Given the description of an element on the screen output the (x, y) to click on. 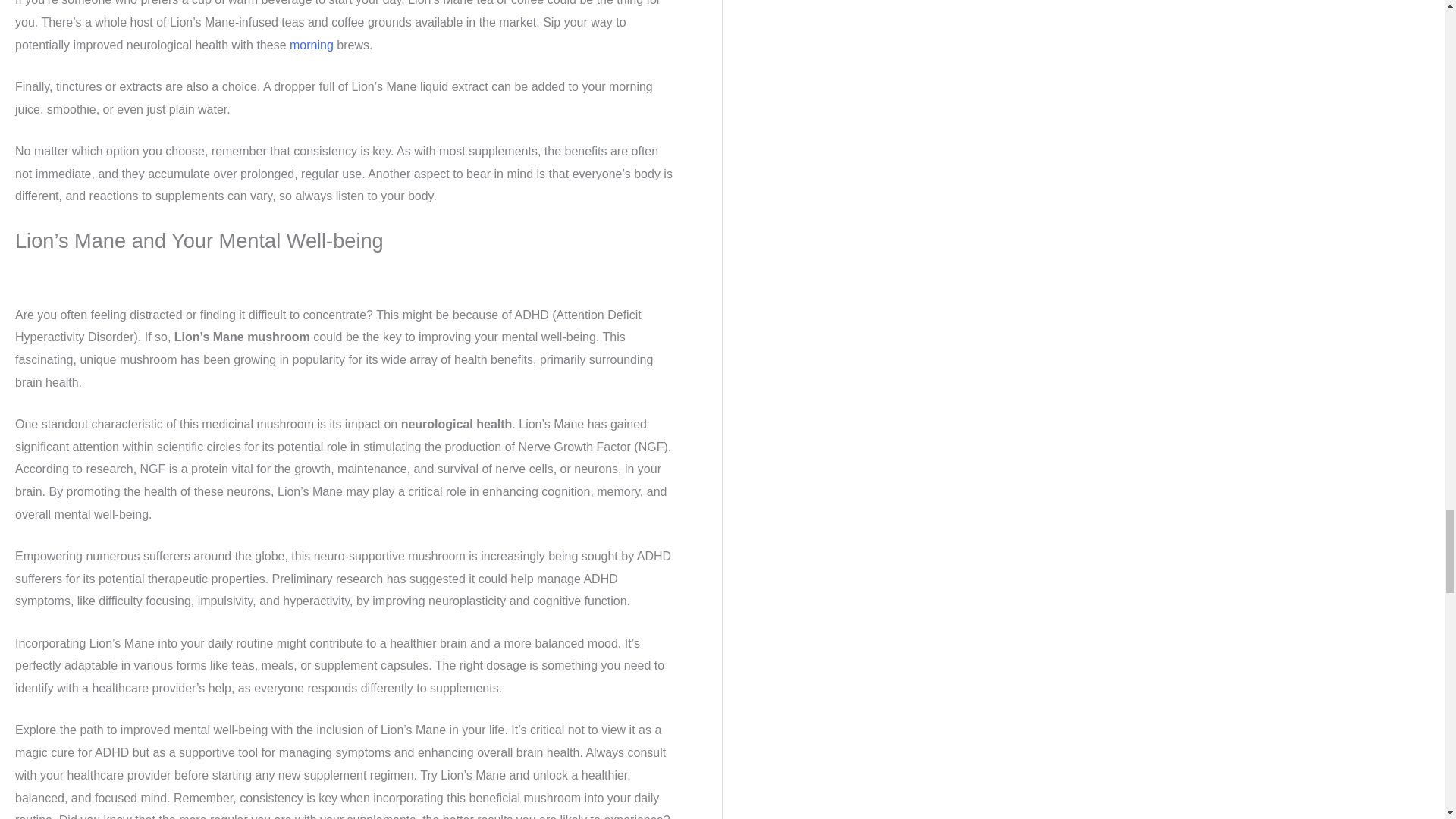
morning (311, 43)
